Given the description of an element on the screen output the (x, y) to click on. 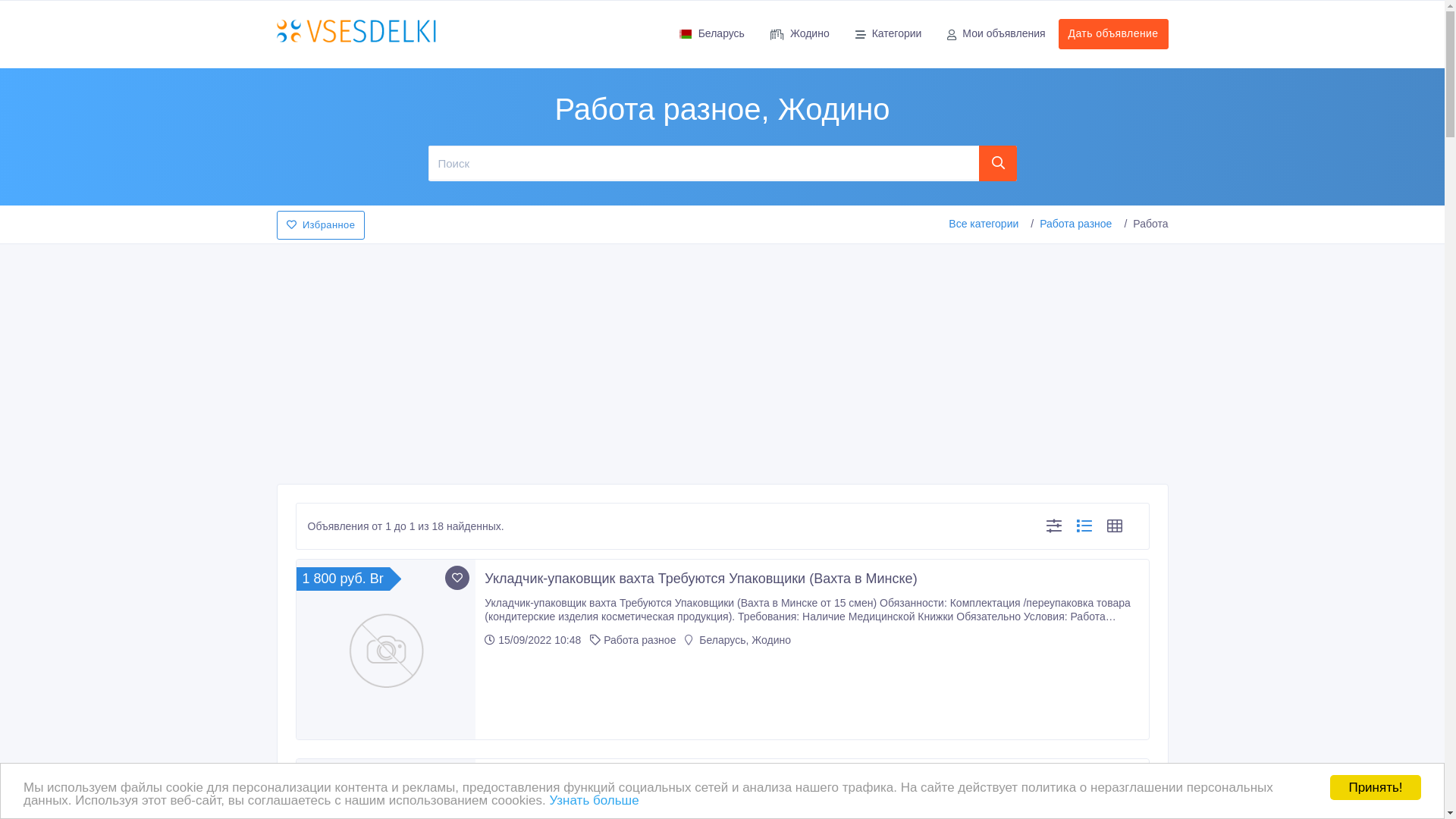
Add to favorite Element type: hover (457, 777)
Add to favorite Element type: hover (457, 577)
Advertisement Element type: hover (721, 359)
